Given the description of an element on the screen output the (x, y) to click on. 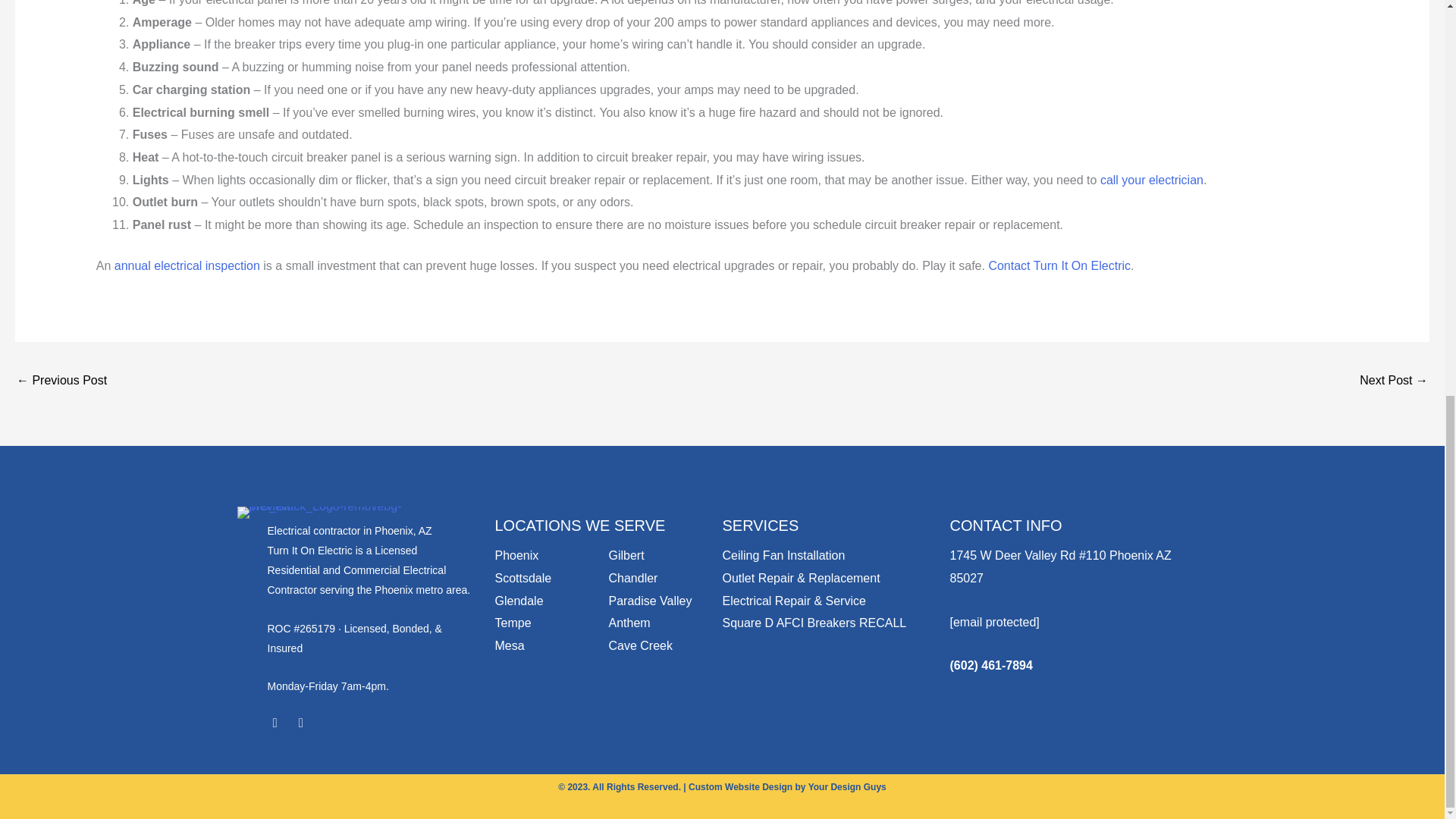
Contact Turn It On Electric (1059, 265)
Instagram (301, 723)
Do you really need an electrical panel upgrade? (61, 381)
annual electrical inspection (187, 265)
call your electrician (1152, 179)
Add security lighting to your home or office (1393, 381)
Facebook (274, 723)
